Given the description of an element on the screen output the (x, y) to click on. 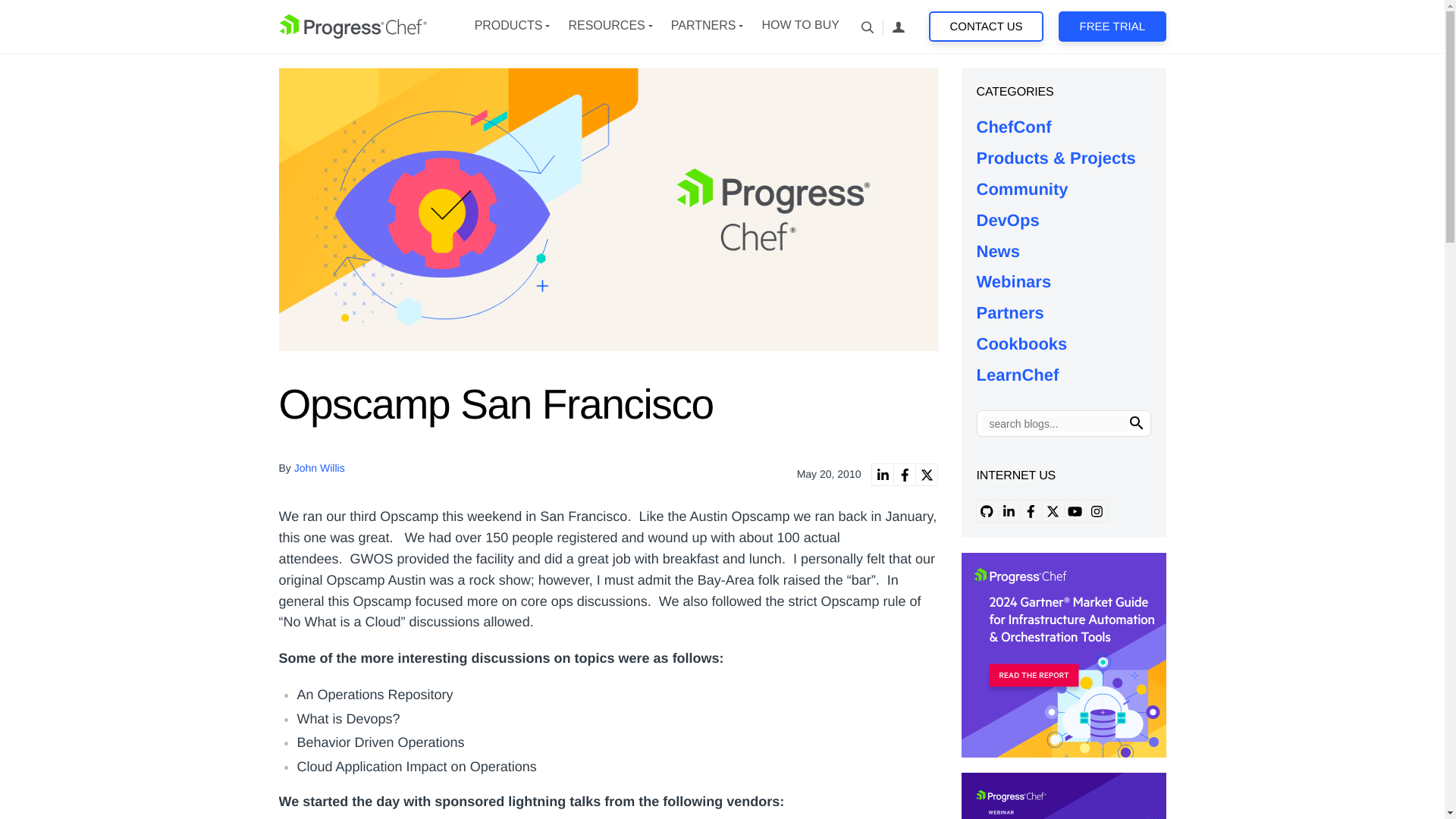
RESOURCES (606, 25)
CONTACT US (985, 26)
HOW TO BUY (799, 25)
SKIP NAVIGATION (352, 26)
PARTNERS (703, 25)
John Willis (319, 467)
PRODUCTS (508, 25)
